Given the description of an element on the screen output the (x, y) to click on. 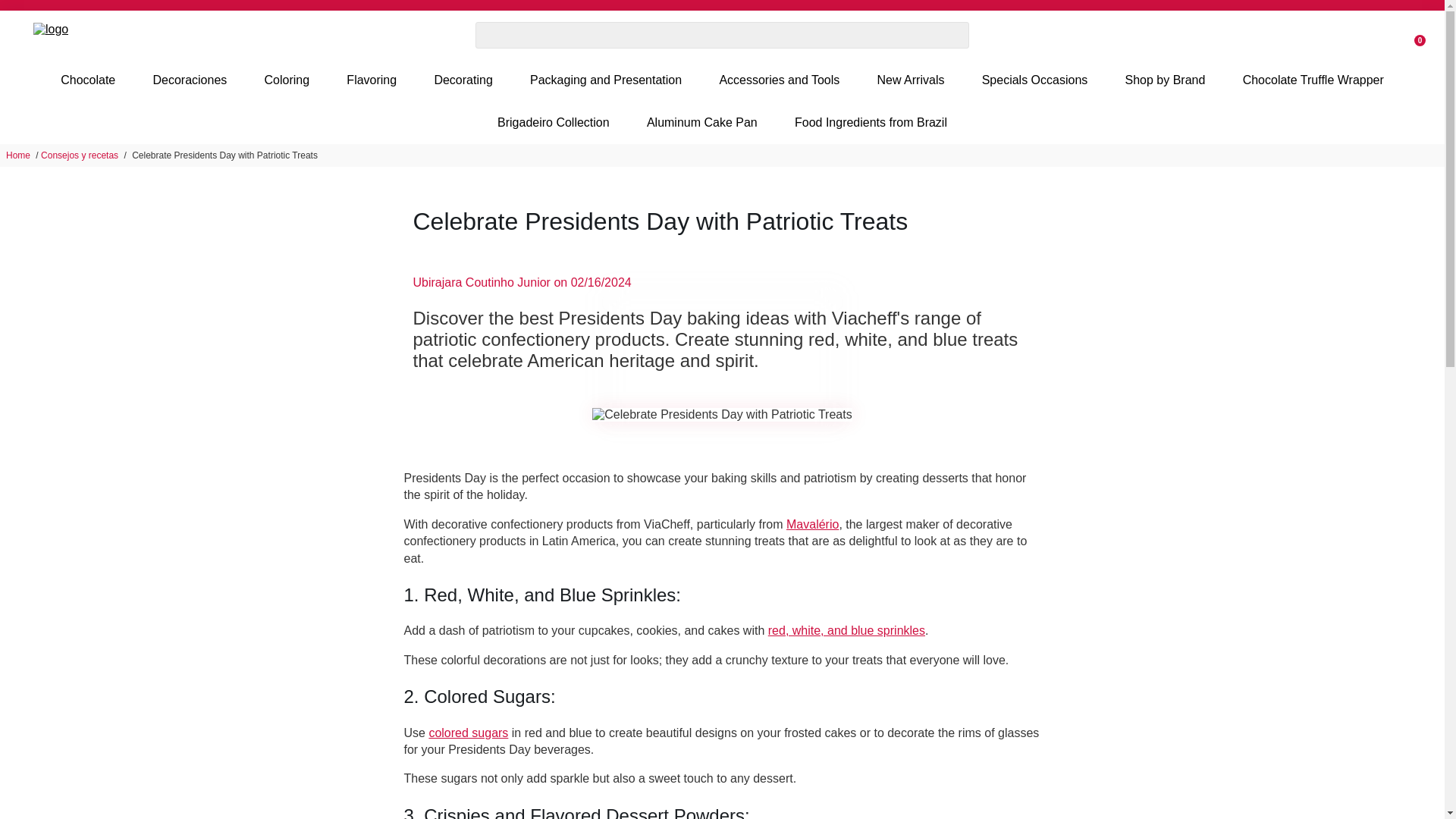
Flavoring (371, 79)
Decorating (462, 79)
Decoraciones (188, 79)
Home (17, 154)
Chocolate (88, 79)
Coloring (286, 79)
